Given the description of an element on the screen output the (x, y) to click on. 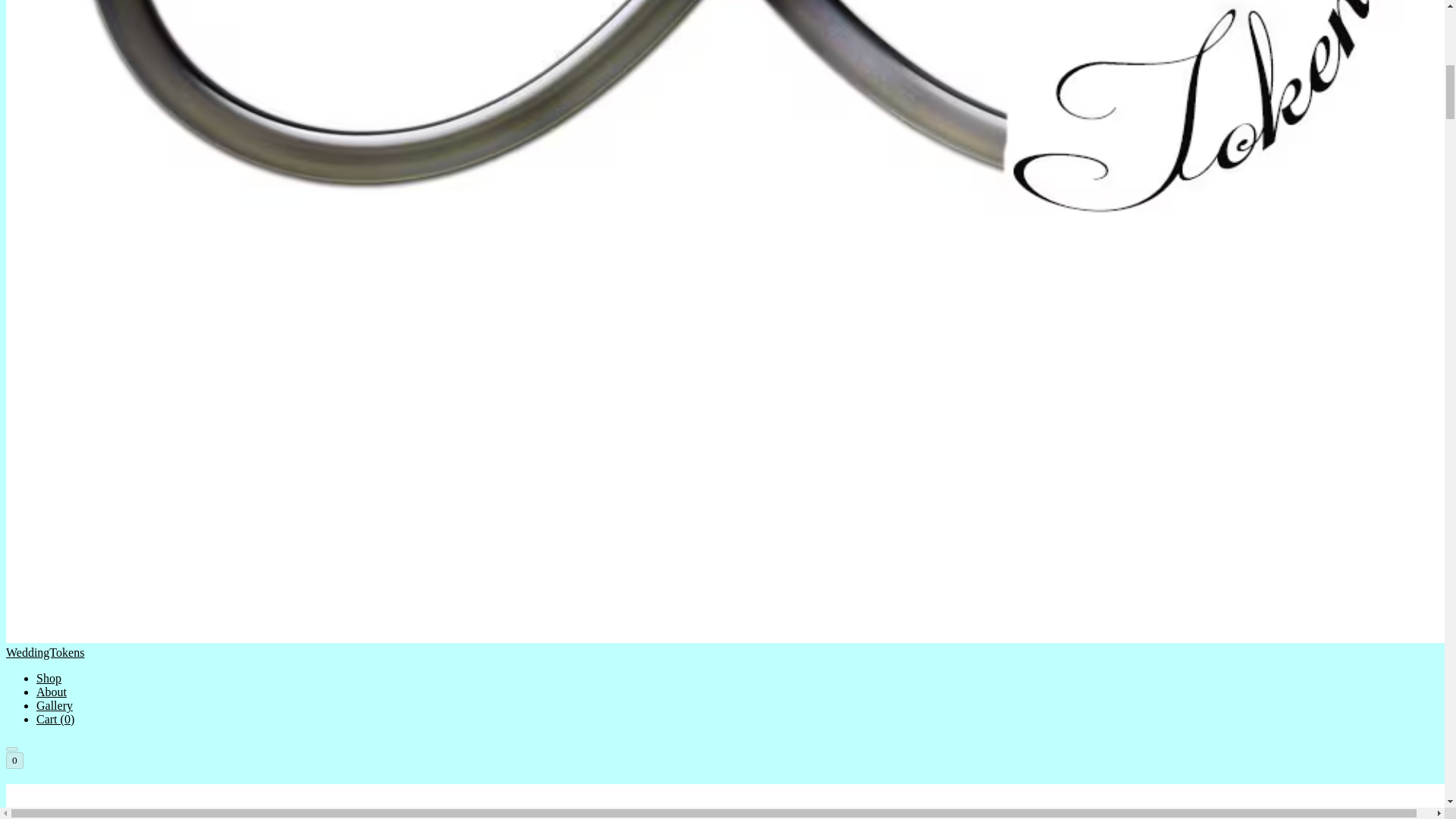
Shop (48, 677)
Gallery (54, 705)
WeddingTokens (721, 801)
0 (14, 760)
About (51, 691)
